Given the description of an element on the screen output the (x, y) to click on. 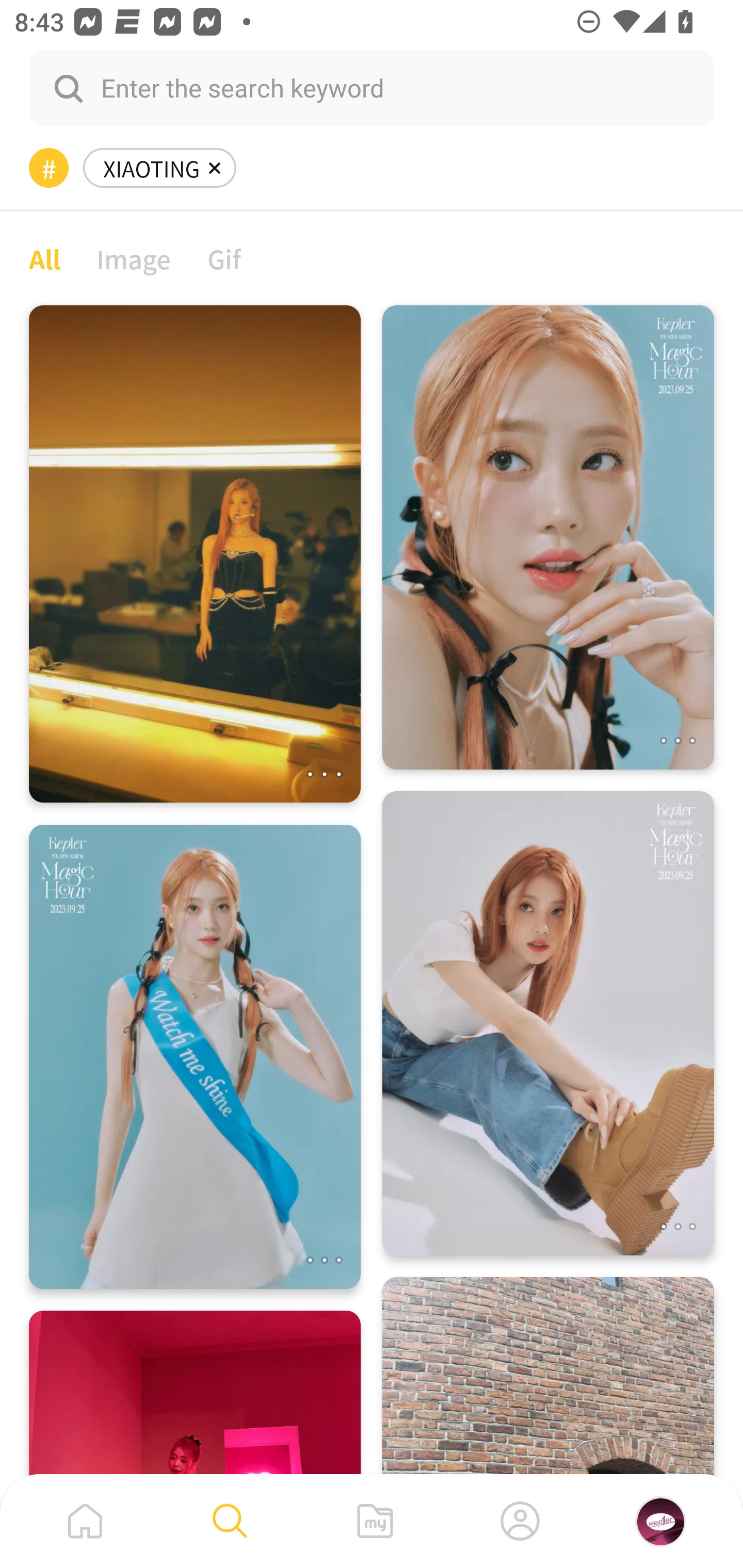
All (44, 257)
Image (133, 257)
Gif (223, 257)
